Given the description of an element on the screen output the (x, y) to click on. 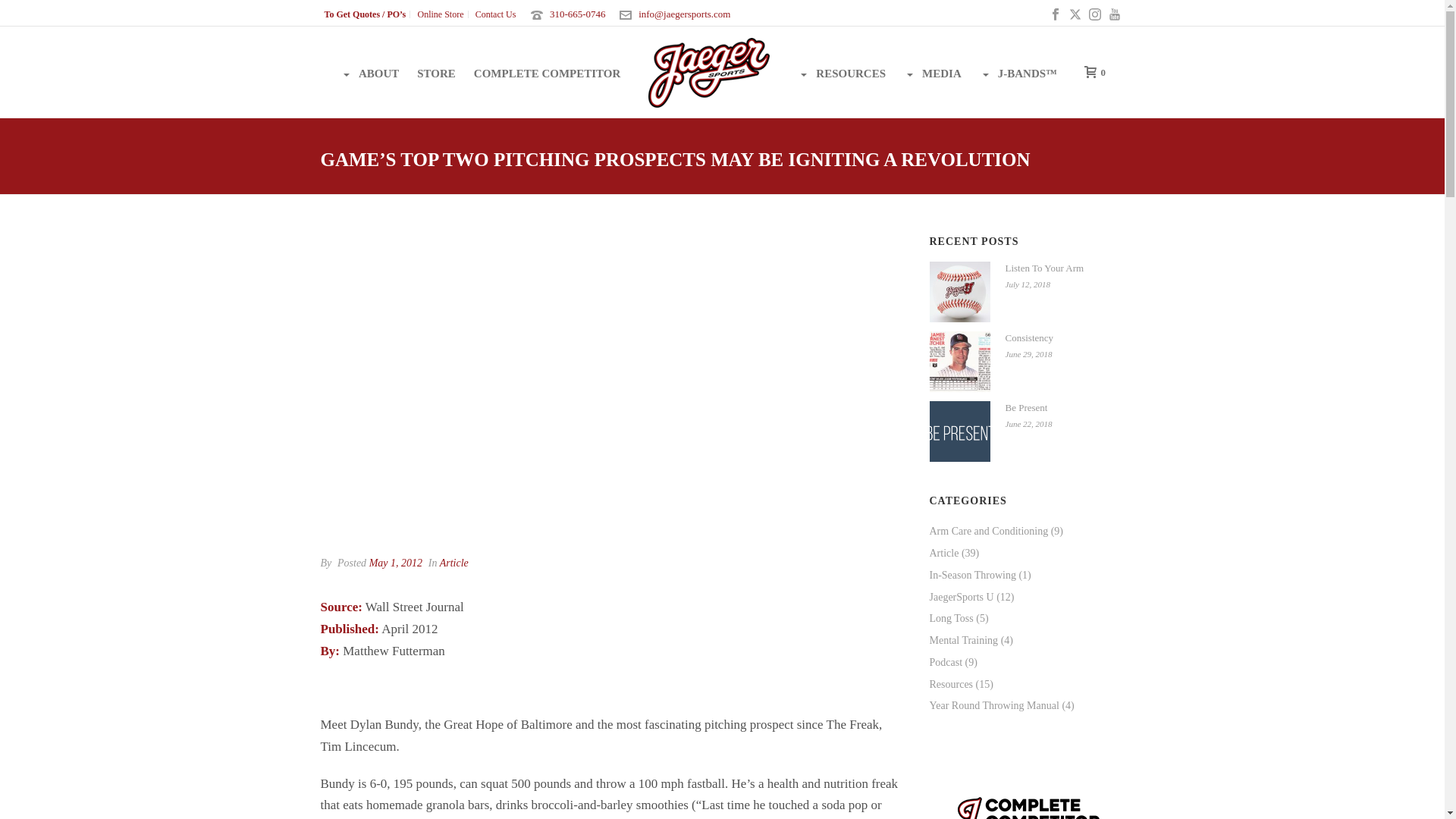
Consistency (960, 361)
COMPLETE COMPETITOR (547, 71)
Jaeger Sports (708, 71)
Online Store (440, 14)
COMPLETE COMPETITOR (547, 71)
0 (1090, 71)
RESOURCES (842, 71)
310-665-0746 (577, 13)
Contact Us (495, 14)
Listen To Your Arm (960, 291)
